Given the description of an element on the screen output the (x, y) to click on. 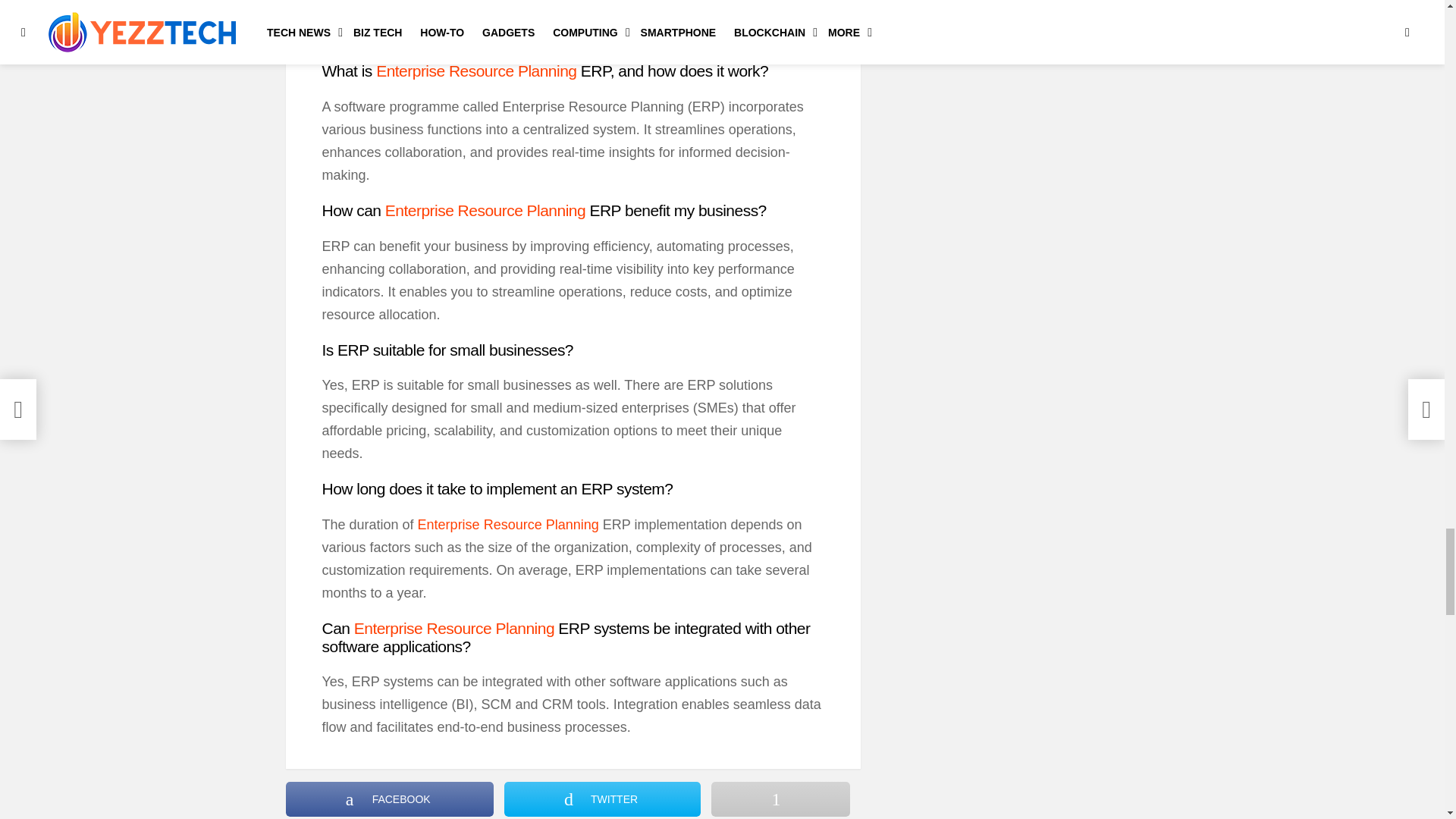
Share on Twitter (601, 799)
Share on Facebook (389, 799)
Share on More Button (779, 799)
